Given the description of an element on the screen output the (x, y) to click on. 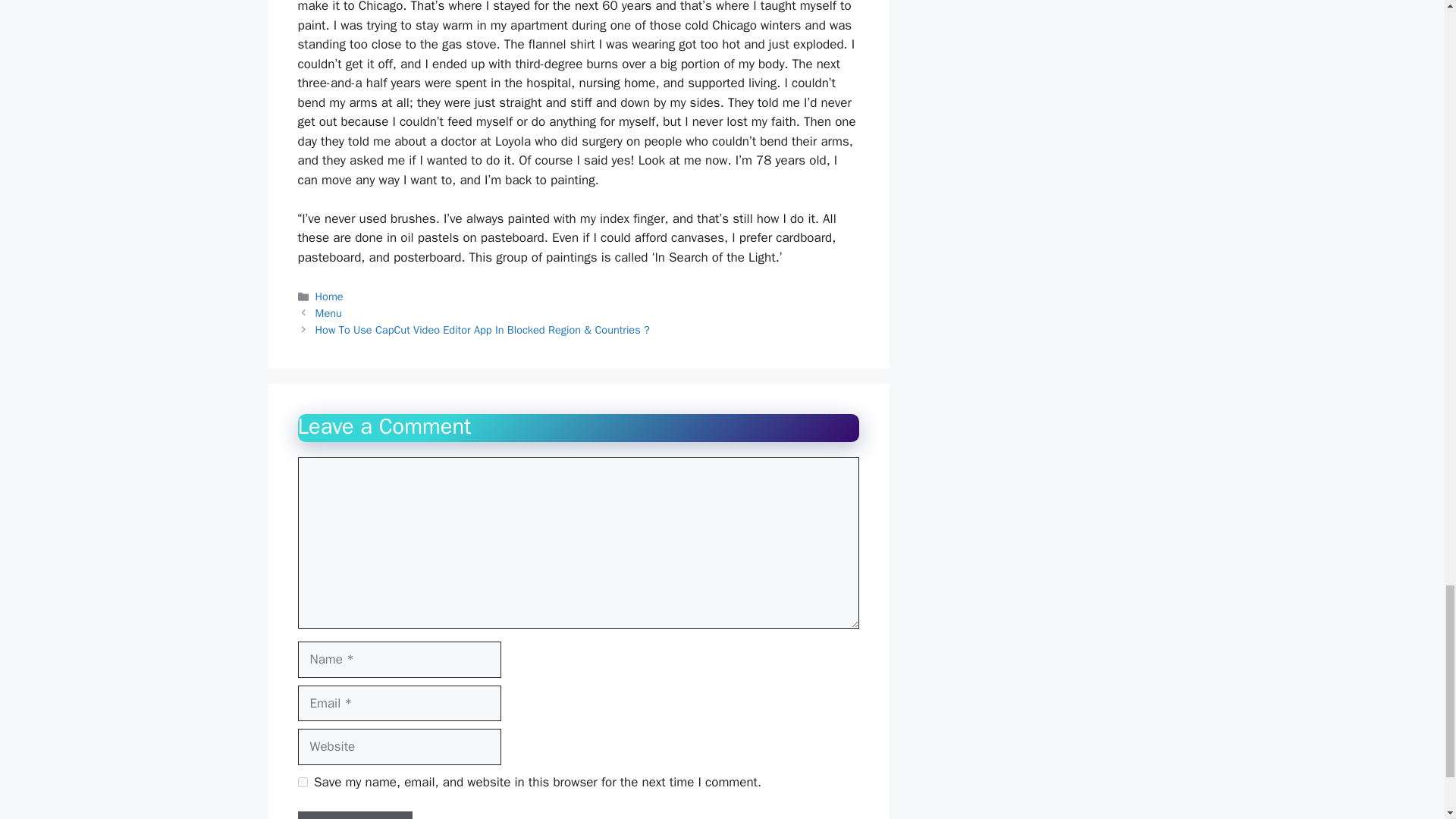
Post Comment (354, 815)
Post Comment (354, 815)
Home (329, 296)
yes (302, 782)
Menu (328, 313)
